Given the description of an element on the screen output the (x, y) to click on. 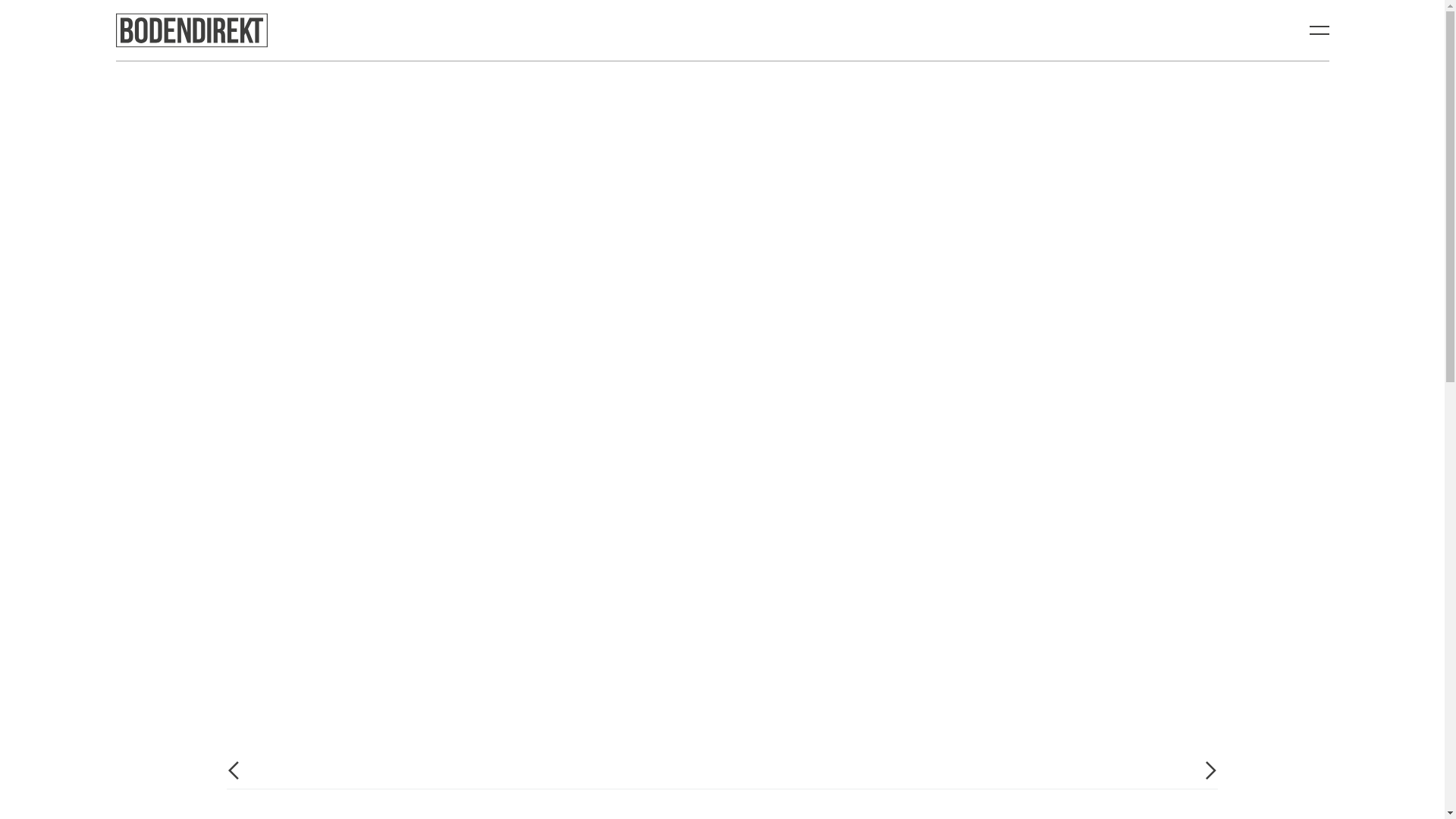
Vorheriges Slide Element type: text (233, 770)
Kategorie-Navigation anzeigen Element type: text (1319, 30)
